Given the description of an element on the screen output the (x, y) to click on. 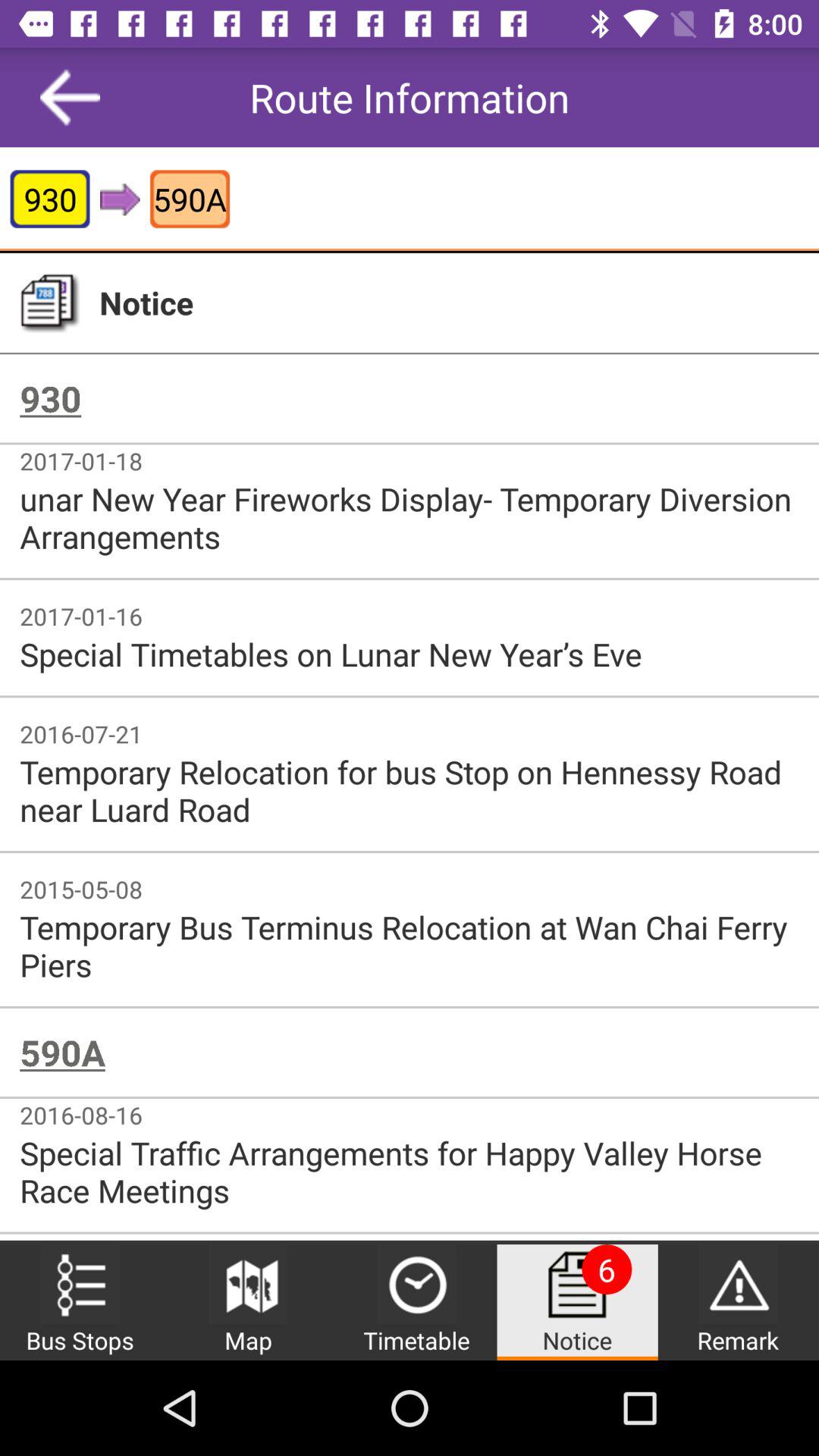
select app to the left of the route information icon (69, 97)
